Given the description of an element on the screen output the (x, y) to click on. 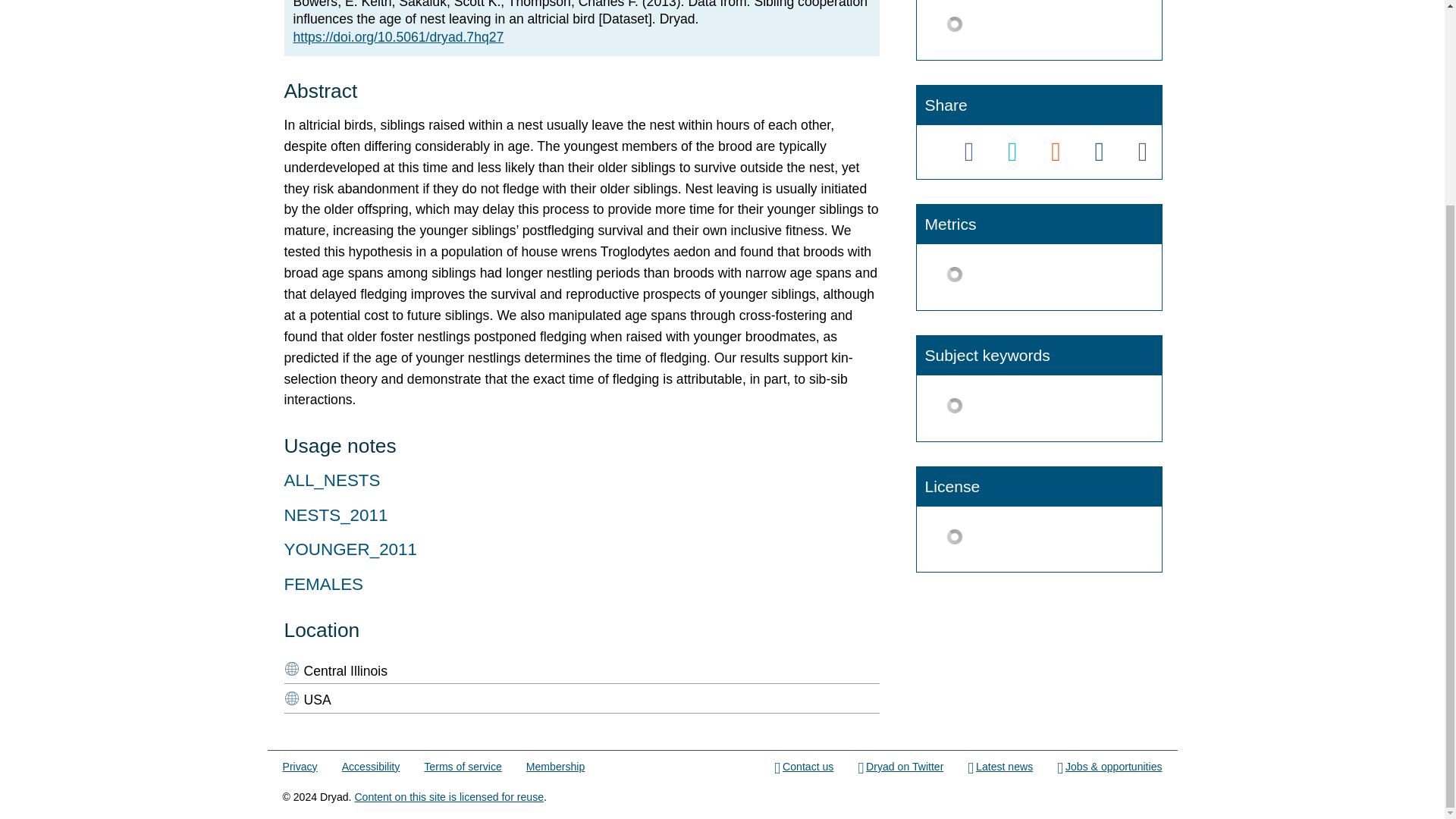
Contact us (803, 767)
Privacy (299, 767)
Membership (555, 767)
Accessibility (371, 767)
Terms of service (461, 767)
